Given the description of an element on the screen output the (x, y) to click on. 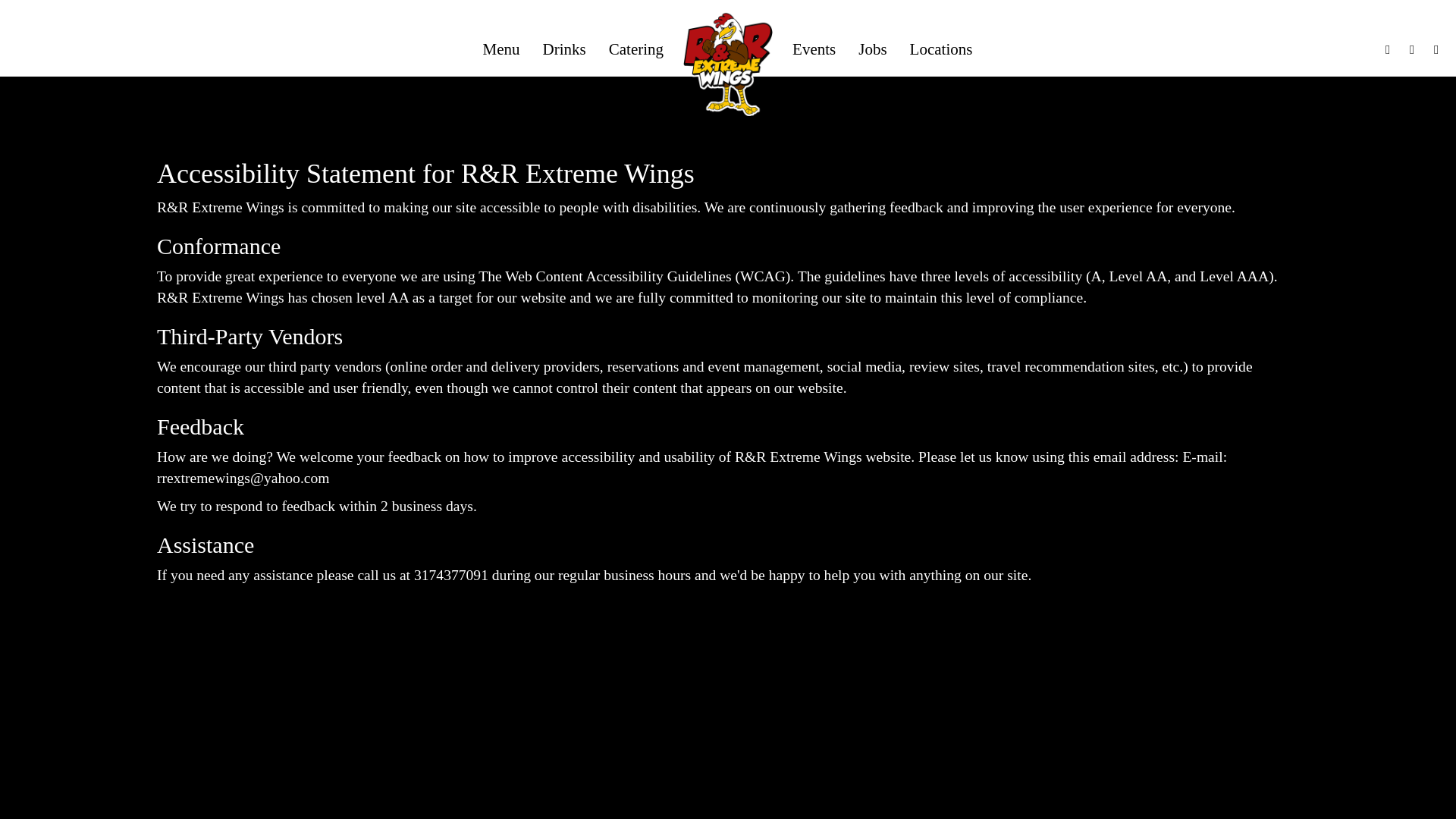
Catering (635, 48)
Menu (501, 48)
3174377091 (450, 575)
Locations (941, 48)
Jobs (872, 48)
Drinks (563, 48)
Events (813, 48)
